Given the description of an element on the screen output the (x, y) to click on. 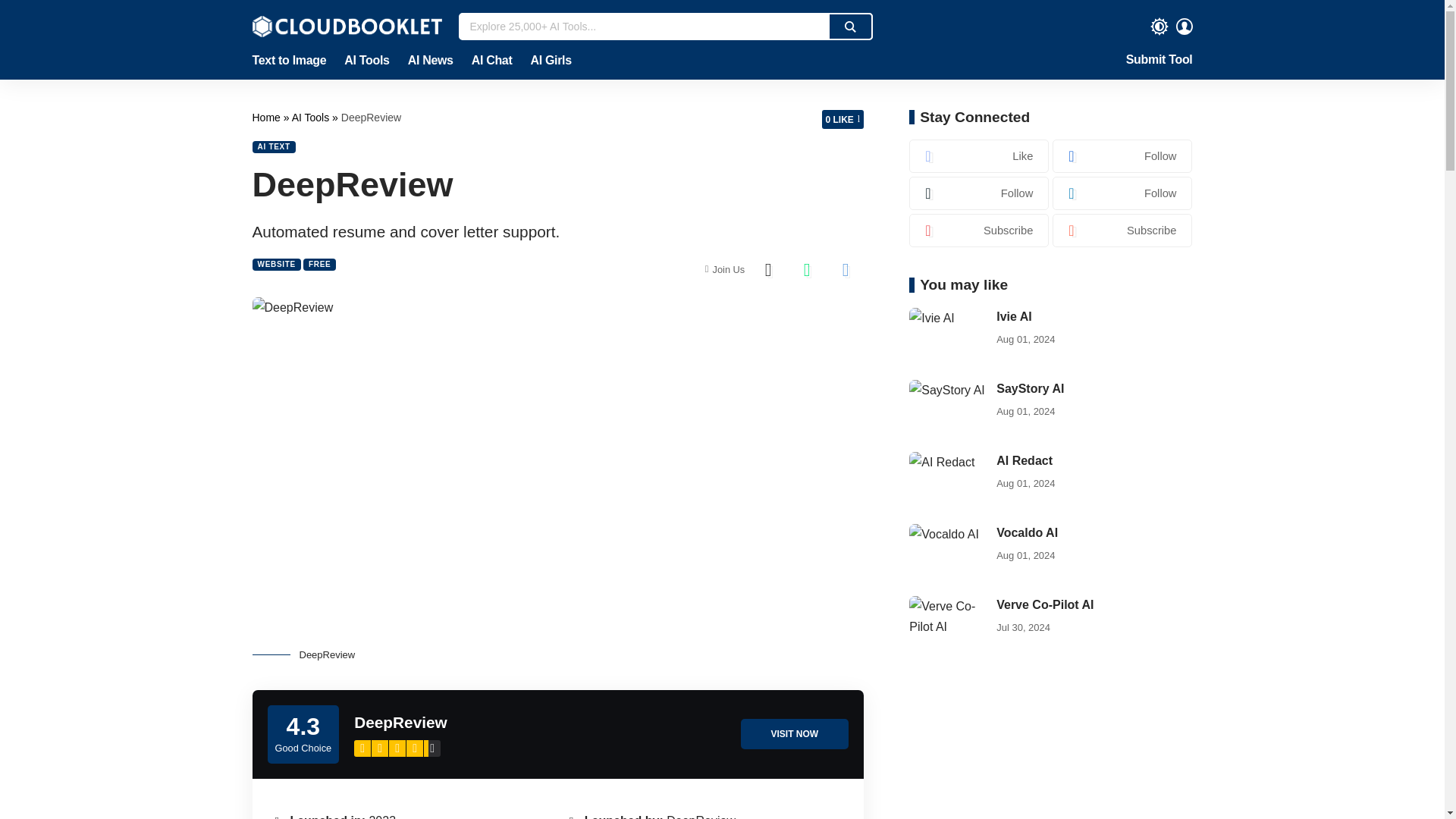
AI News (430, 60)
Cloudbooklet AI (346, 25)
AI Girls (545, 60)
Submit Tool (1158, 60)
Home (266, 117)
AI Tools (365, 60)
0 LIKE (843, 118)
Text to Image (292, 60)
AI Tools (311, 117)
